Given the description of an element on the screen output the (x, y) to click on. 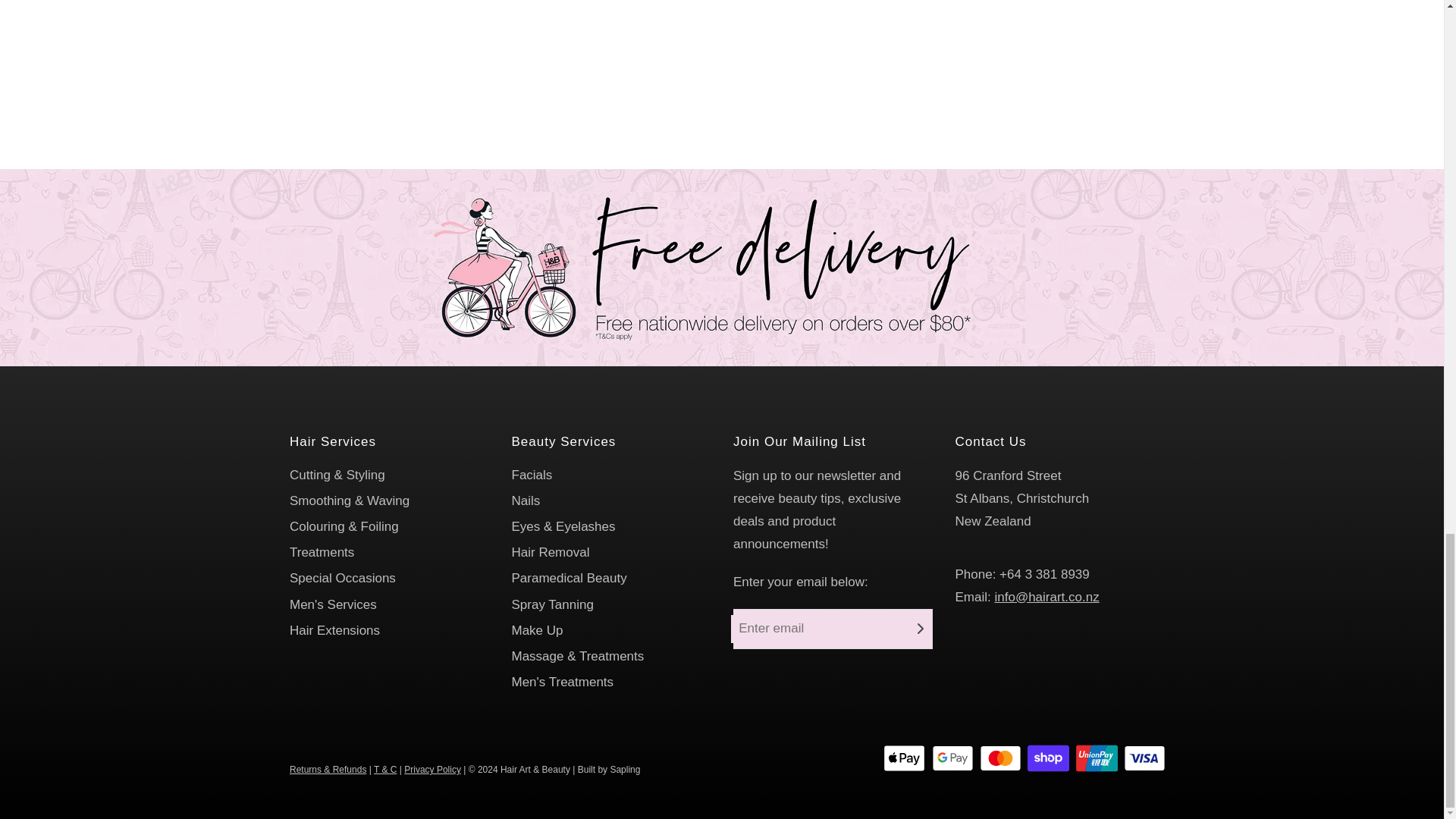
Visa (1145, 757)
Apple Pay (903, 757)
Shop Pay (1047, 757)
Union Pay (1096, 757)
Mastercard (1000, 757)
Google Pay (952, 757)
